Given the description of an element on the screen output the (x, y) to click on. 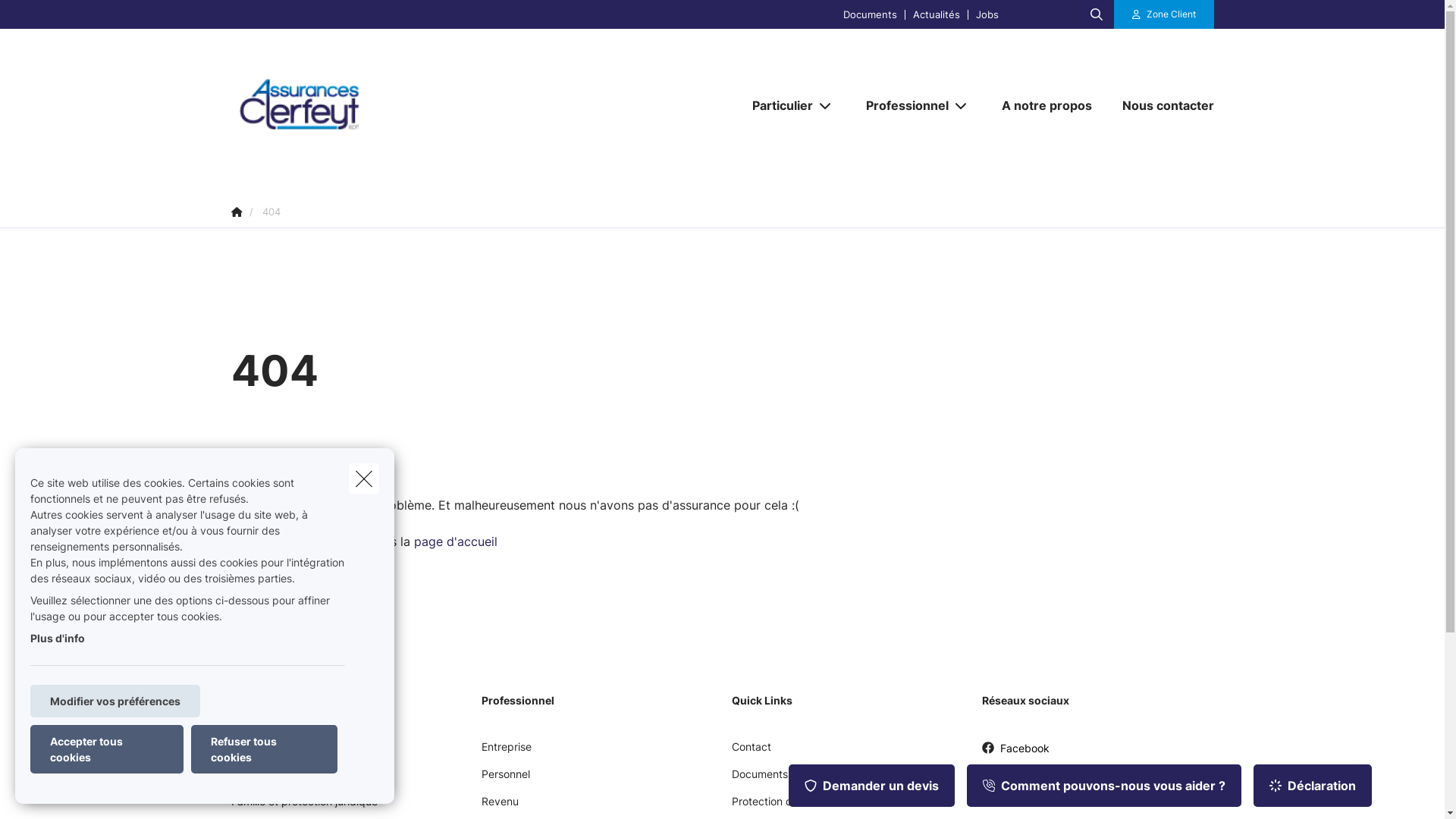
Entreprise Element type: text (505, 751)
Personnel Element type: text (504, 779)
Particulier Element type: text (776, 104)
Refuser tous cookies Element type: text (264, 748)
Rechercher Element type: text (54, 18)
A notre propos Element type: text (1045, 104)
page d'accueil Element type: text (455, 541)
Nous contacter Element type: text (1160, 104)
Plus d'info Element type: text (57, 637)
Accepter tous cookies Element type: text (106, 748)
Professionnel Element type: text (901, 104)
Jobs Element type: text (986, 13)
Habitation Element type: text (255, 779)
Documents Element type: text (759, 779)
Comment pouvons-nous vous aider ? Element type: text (1103, 785)
Documents Element type: text (869, 13)
Facebook Element type: text (1014, 753)
Demander un devis Element type: text (871, 785)
Contact Element type: text (750, 751)
Zone Client Element type: text (1163, 14)
